Given the description of an element on the screen output the (x, y) to click on. 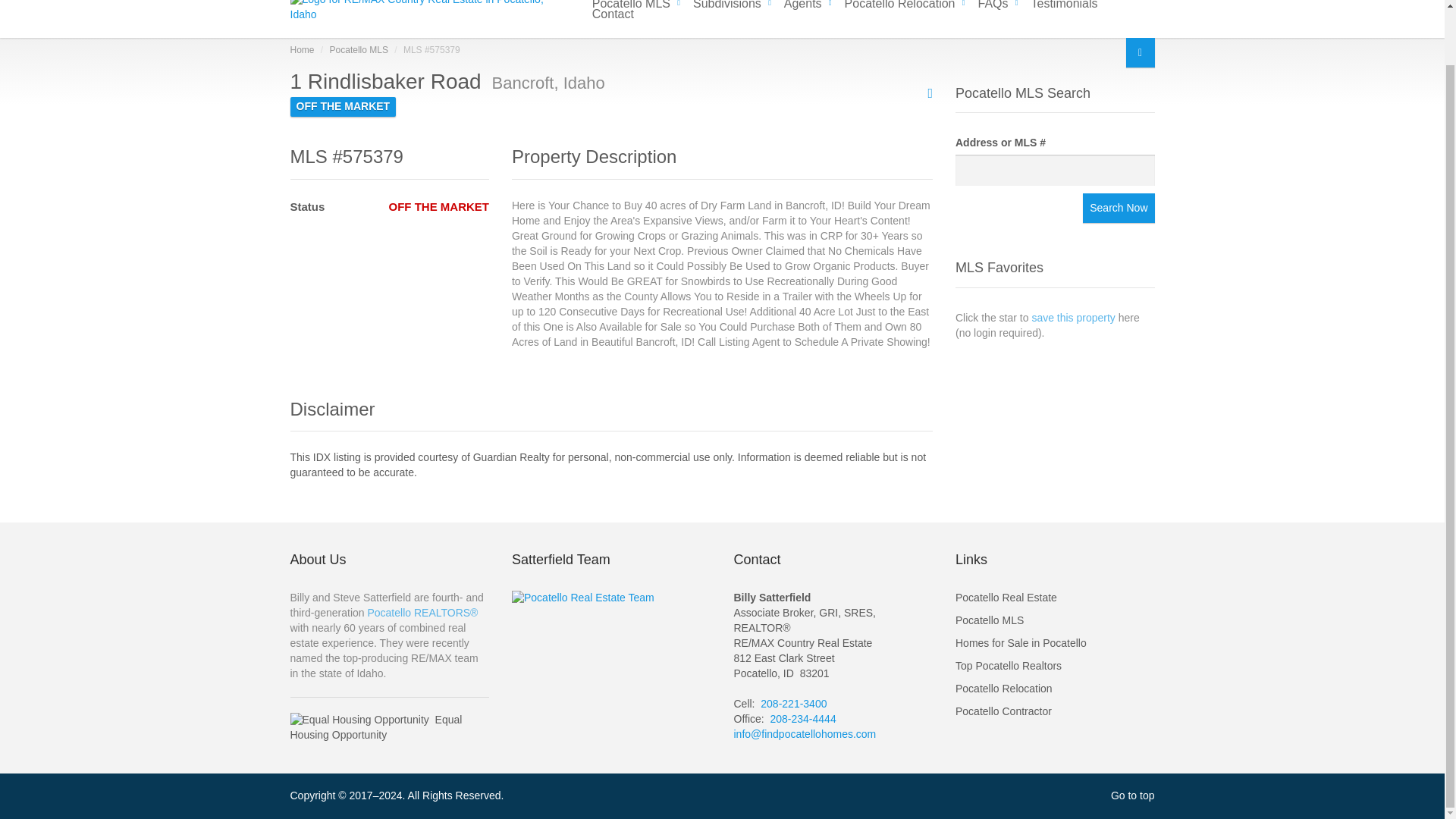
Agents (802, 3)
Subdivisions (727, 3)
Pocatello Relocation (899, 3)
Your Pocatello Real Estate Team (582, 598)
Pocatello MLS (630, 3)
FAQs (992, 3)
Equal Housing Opportunity (358, 720)
